Given the description of an element on the screen output the (x, y) to click on. 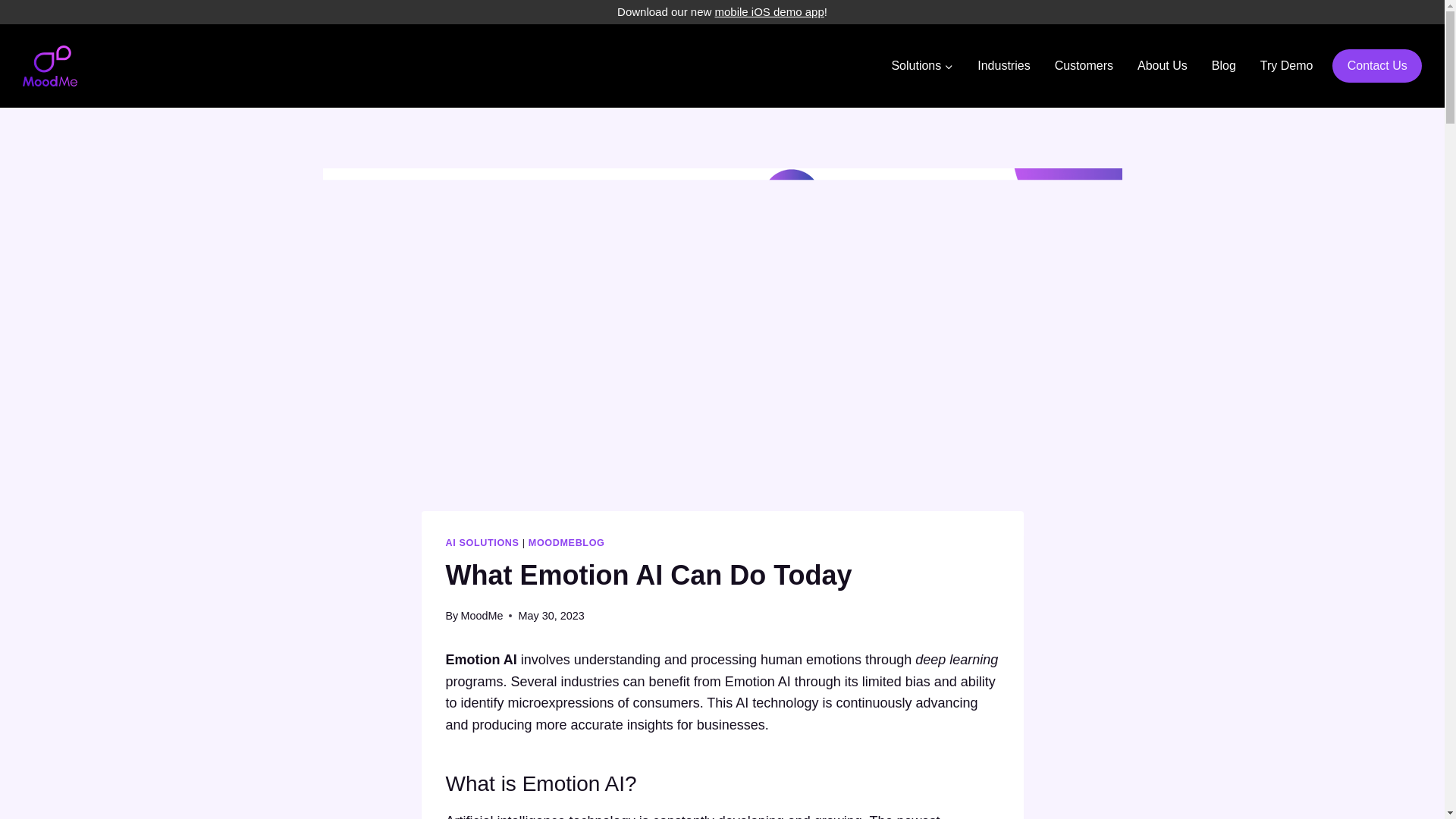
Try Demo (1285, 66)
MOODMEBLOG (566, 542)
Industries (1003, 66)
About Us (1162, 66)
MoodMe (481, 615)
Customers (1083, 66)
AI SOLUTIONS (482, 542)
Blog (1223, 66)
mobile iOS demo app (769, 11)
Contact Us (1377, 66)
